Given the description of an element on the screen output the (x, y) to click on. 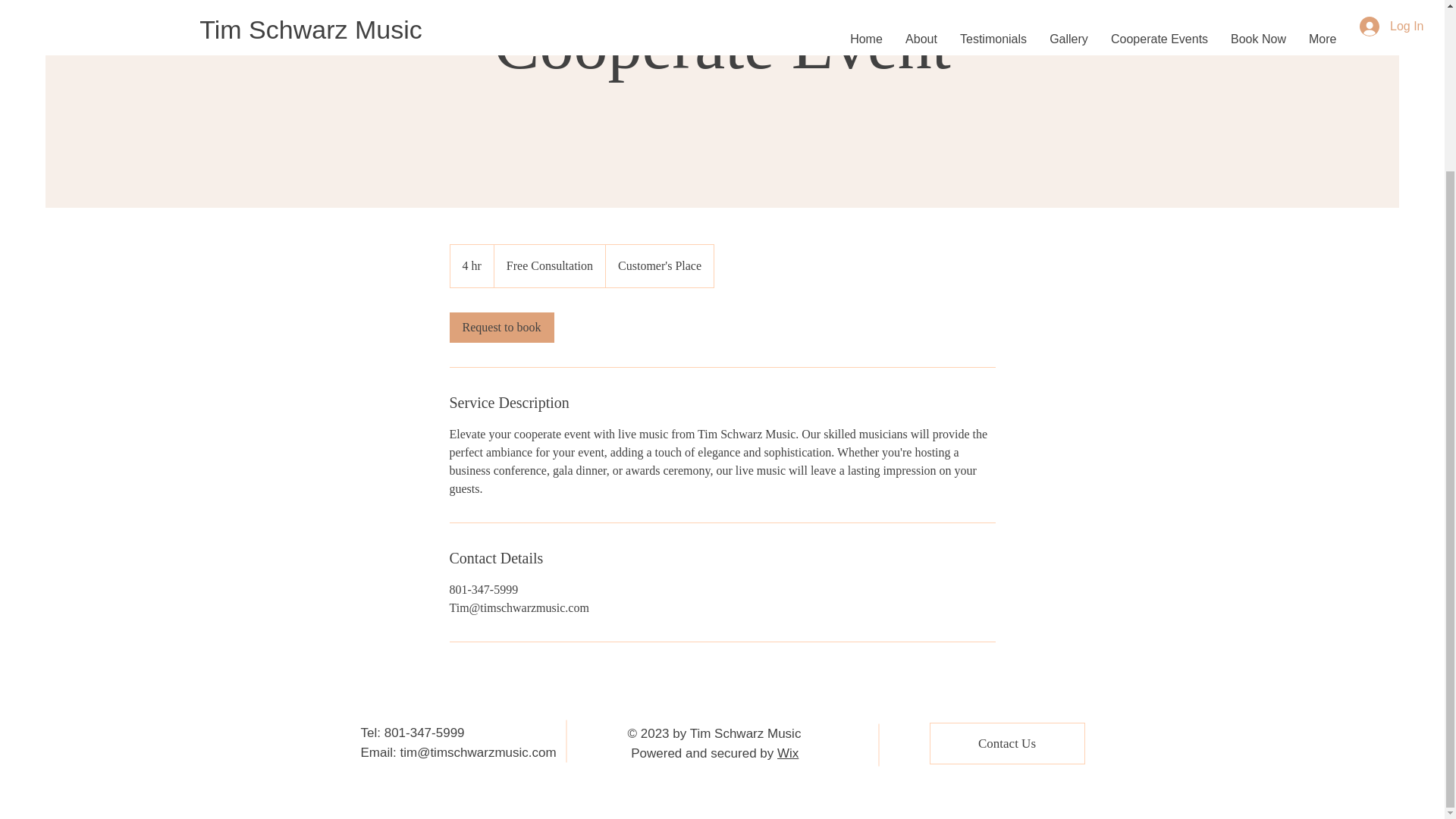
Request to book (500, 327)
Wix (787, 752)
Contact Us (1007, 743)
